Given the description of an element on the screen output the (x, y) to click on. 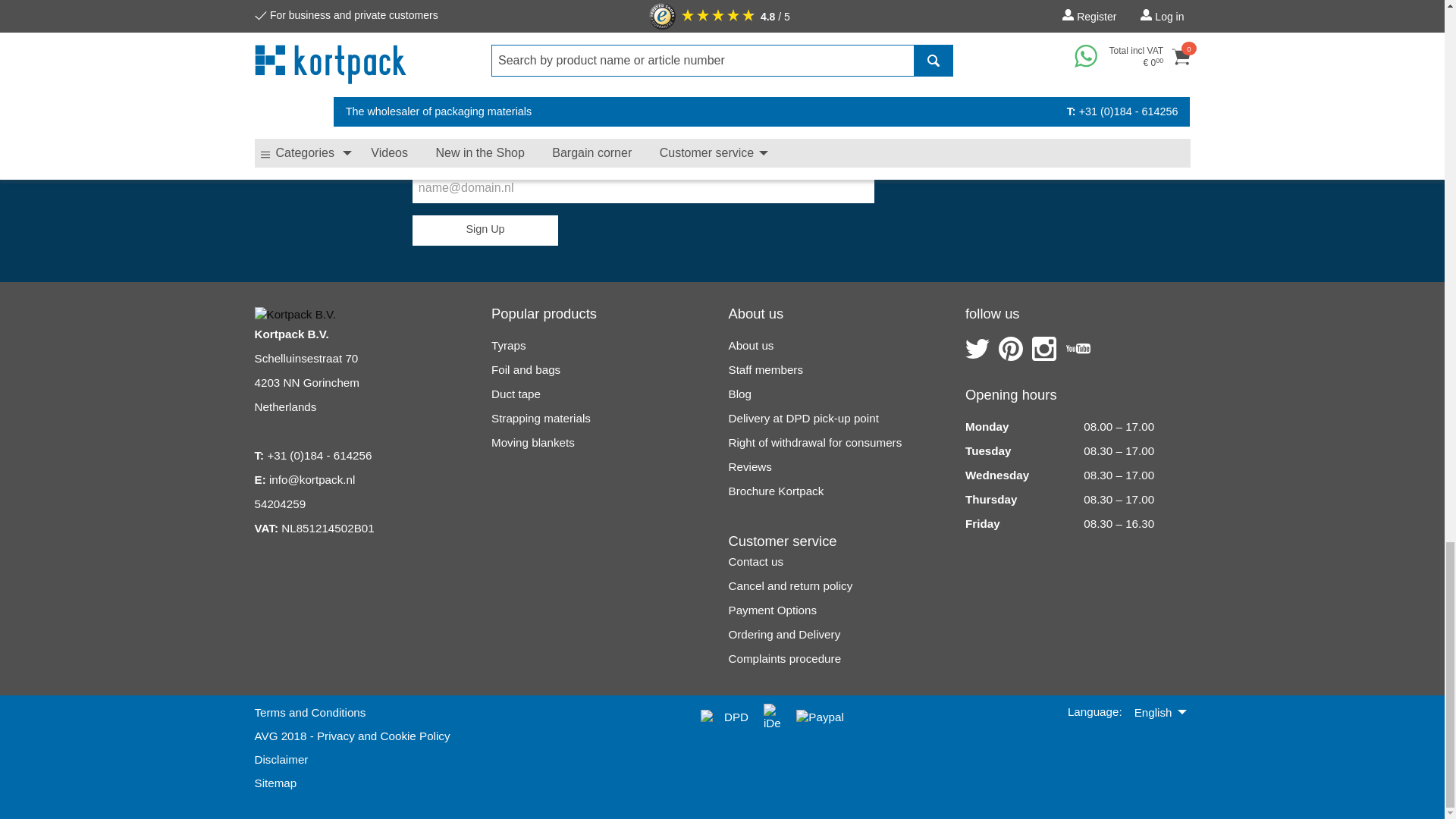
Social (1010, 348)
Social (1044, 348)
Social (1077, 348)
Social (977, 348)
